Given the description of an element on the screen output the (x, y) to click on. 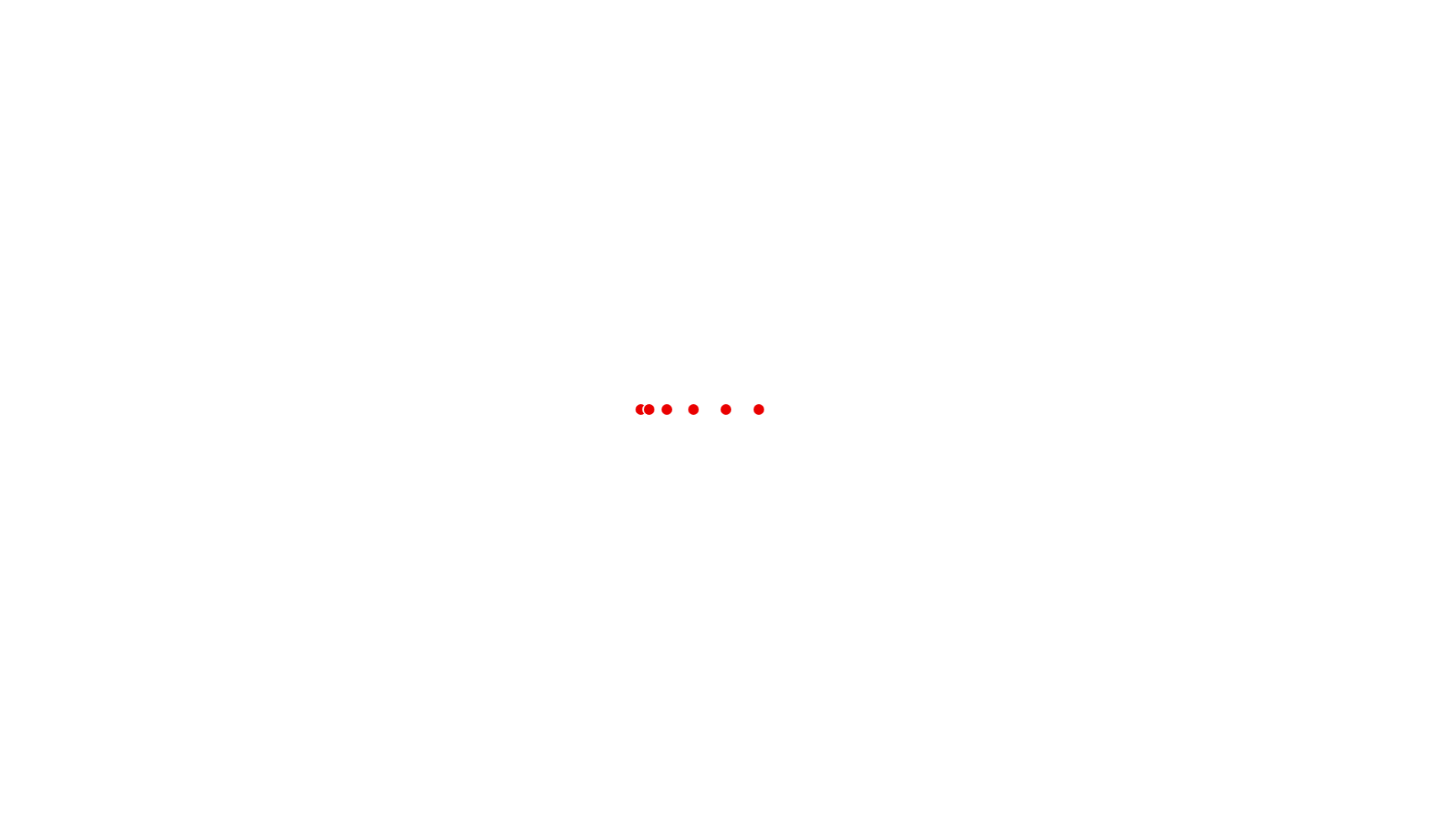
Privacy Policy Element type: text (313, 638)
Contact Us Element type: text (306, 506)
Sign Packs Element type: text (357, 19)
+61 7 3088 9022 Element type: text (1021, 52)
Register Element type: text (1152, 19)
Home Element type: text (292, 165)
Blog Element type: text (290, 682)
Sitemap Element type: text (299, 660)
Custom Signs Element type: text (510, 19)
Artwork Design Packages Element type: text (823, 19)
Point of Sale Signs Element type: text (613, 19)
Sign In Element type: text (1094, 19)
Home Element type: text (300, 19)
+61 7 3088 9022 Element type: text (548, 577)
COVID-19 Element type: text (430, 19)
Returns & Exchanges Element type: text (331, 572)
FAQ's Element type: text (294, 594)
info@customsignsaustralia.com.au Element type: text (590, 660)
CATEGORIES Element type: text (386, 120)
Shipping Element type: text (301, 550)
SIGN ME UP! Element type: text (1119, 547)
Terms of Service Element type: text (319, 616)
GO TO HOME Element type: text (727, 329)
Safety Signs Element type: text (712, 19)
MY CART Element type: text (1133, 60)
Custom Signs Australia Element type: hover (394, 62)
About Us Element type: text (302, 528)
